Given the description of an element on the screen output the (x, y) to click on. 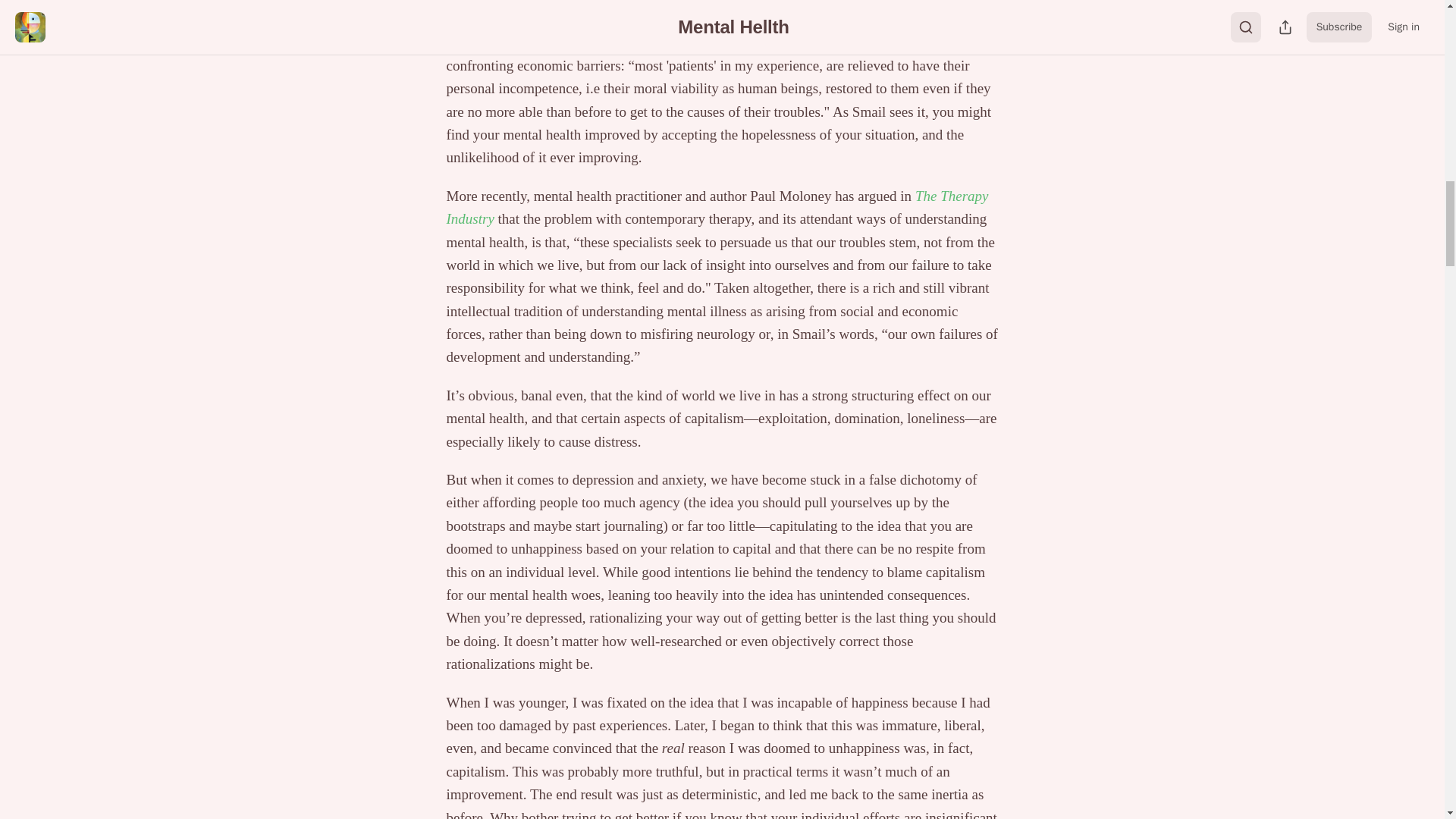
The Therapy Industry (716, 207)
